Given the description of an element on the screen output the (x, y) to click on. 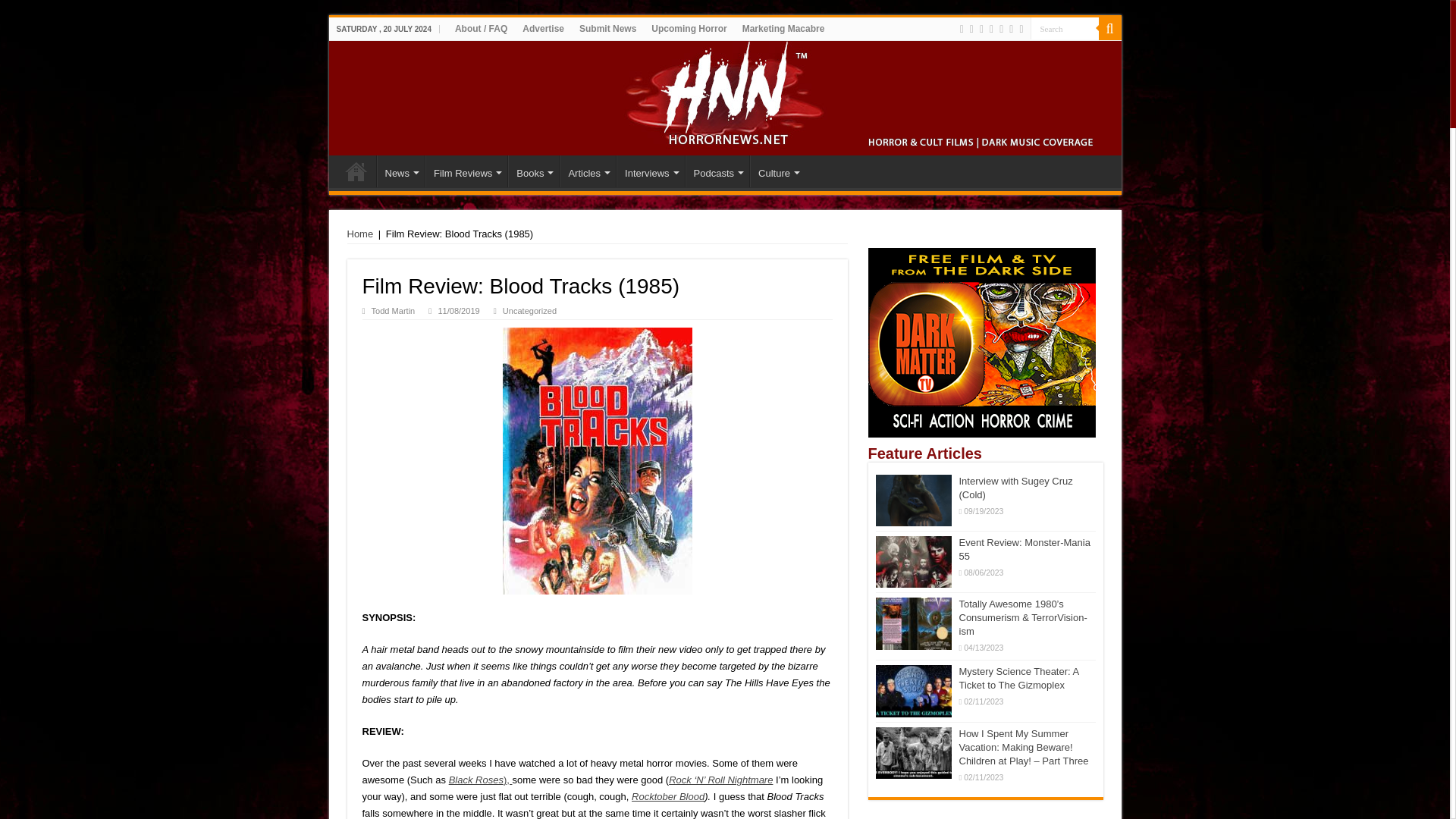
Search (1063, 28)
Search (1063, 28)
